Given the description of an element on the screen output the (x, y) to click on. 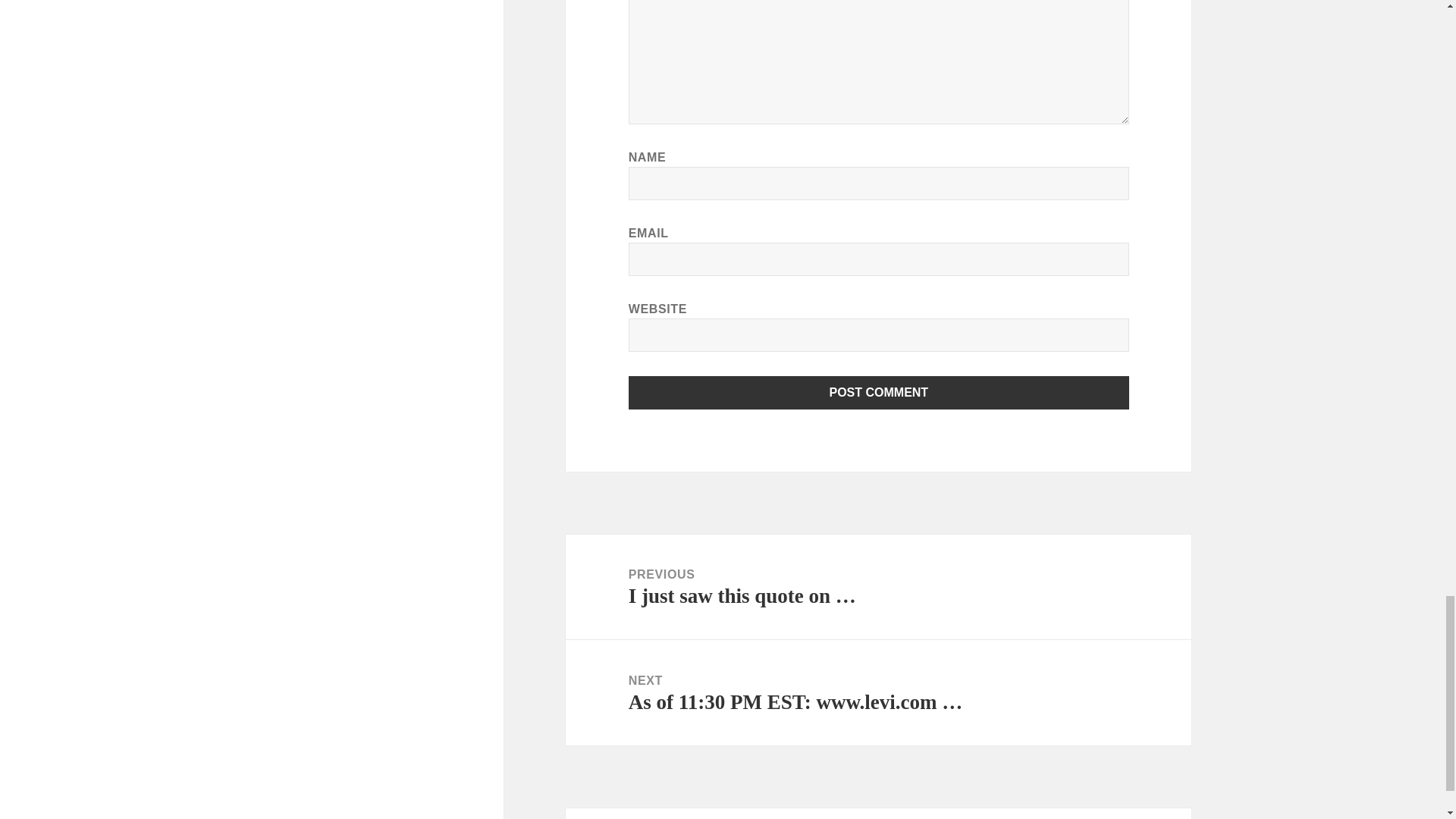
Post Comment (878, 392)
Post Comment (878, 392)
